Given the description of an element on the screen output the (x, y) to click on. 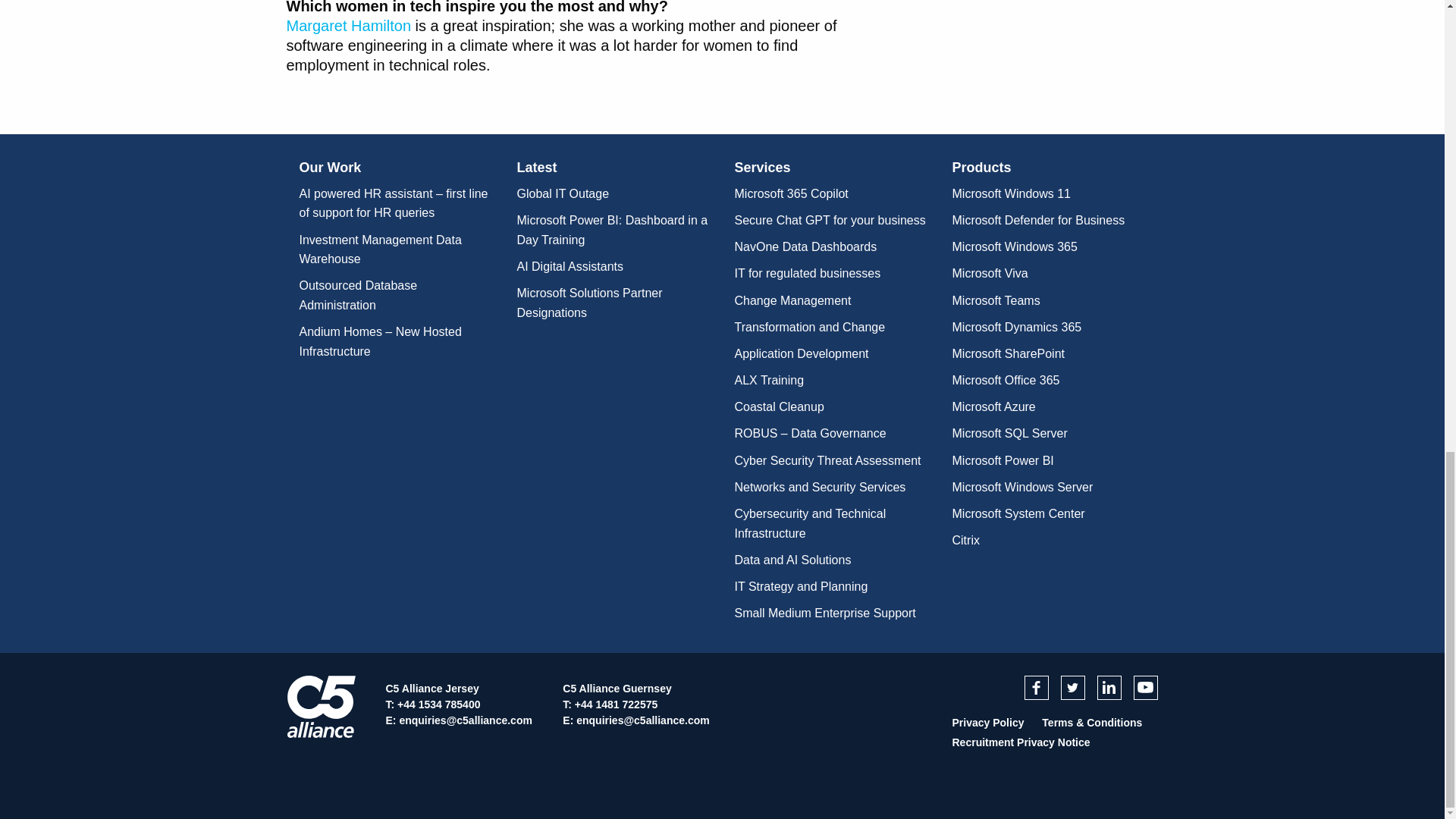
Margaret Hamilton (349, 25)
